Given the description of an element on the screen output the (x, y) to click on. 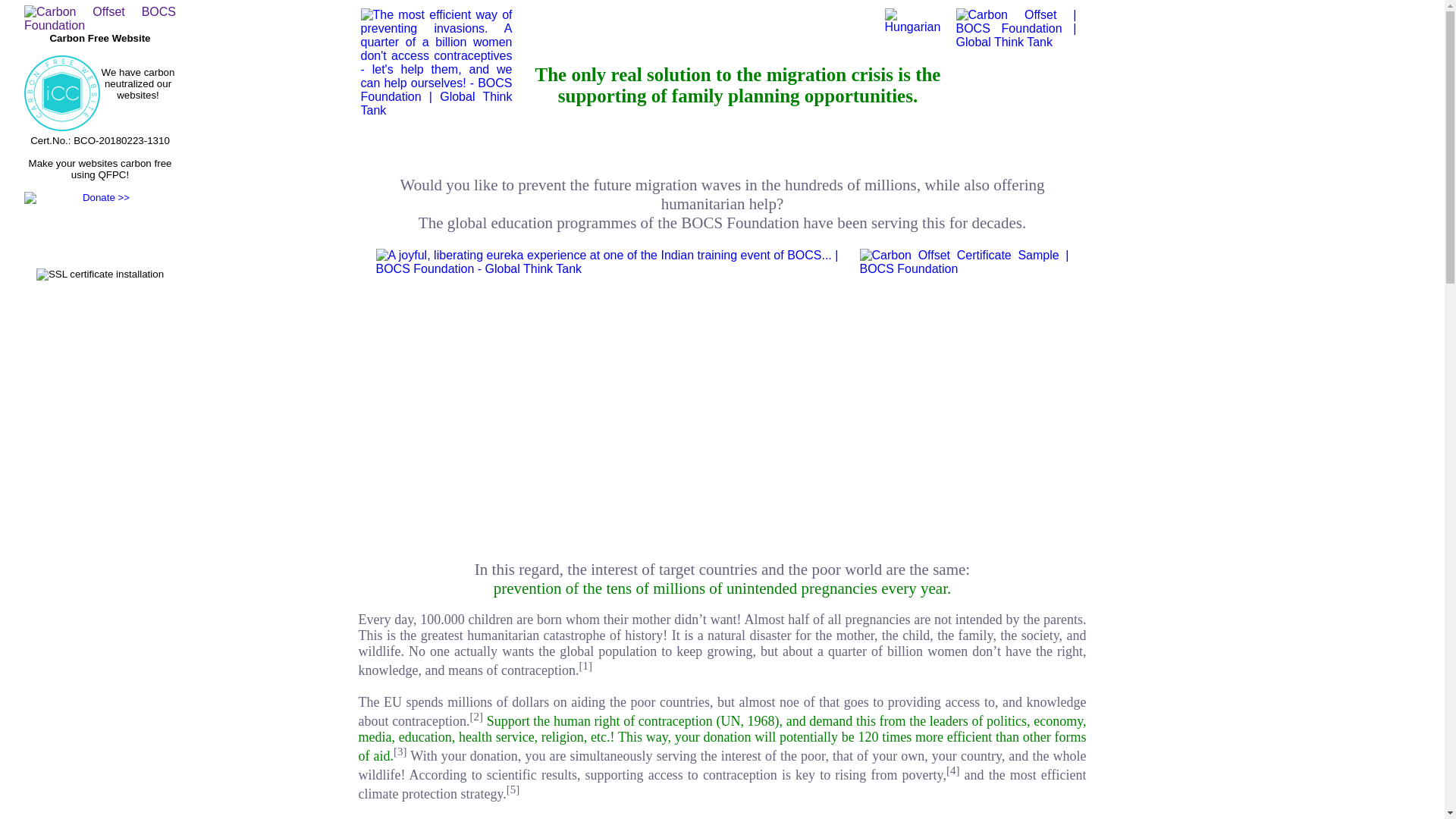
English Element type: hover (914, 30)
Carbon Offset Certificate Sample | BOCS Foundation Element type: hover (964, 396)
Carbon Offset | BOCS Foundation - Global Think Tank Element type: hover (1015, 84)
SSL certificate installation Element type: hover (99, 274)
